Given the description of an element on the screen output the (x, y) to click on. 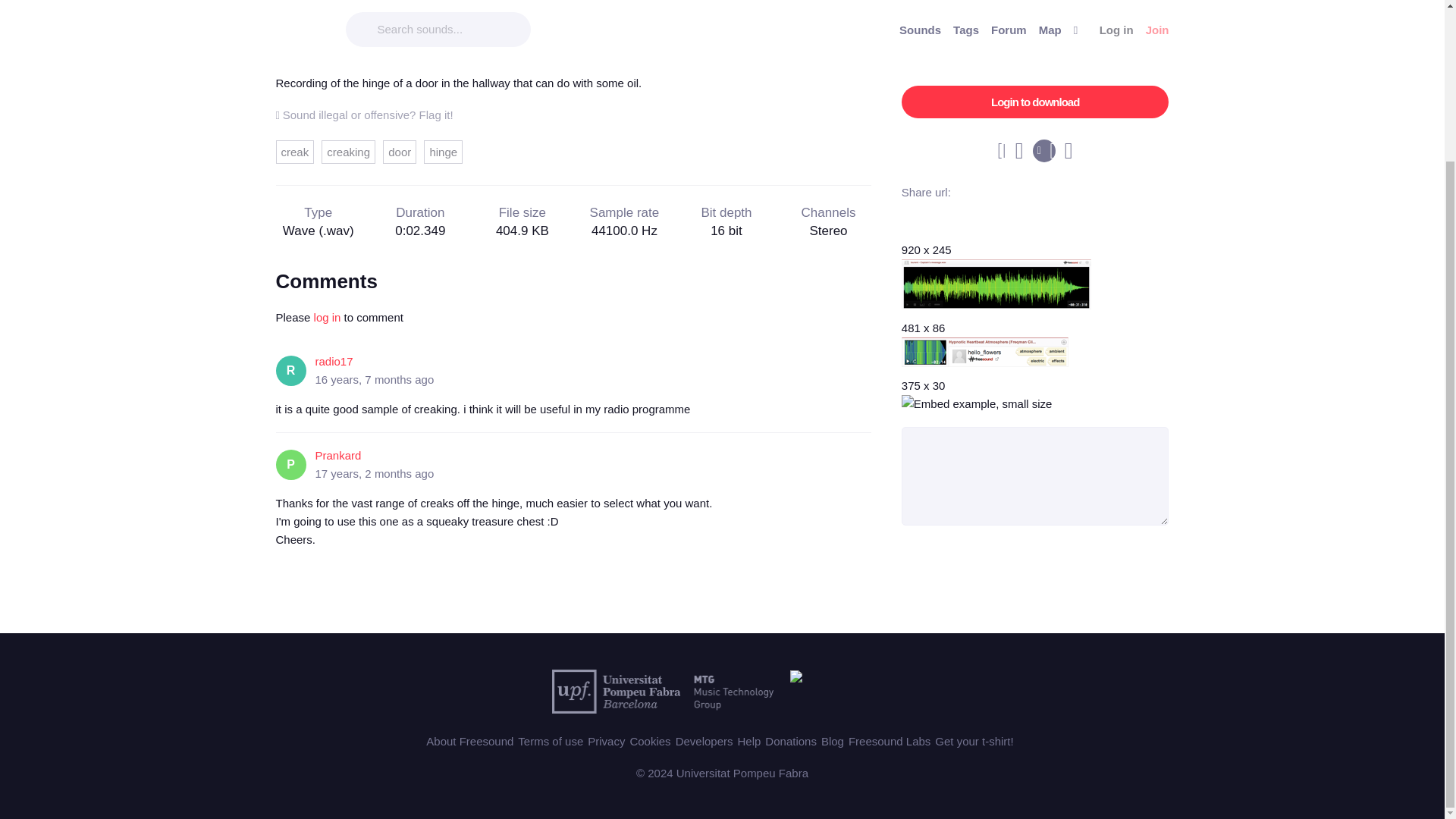
HerbertBoland (351, 4)
creak (295, 151)
door (399, 151)
radio17 (334, 360)
log in (327, 317)
Sound illegal or offensive? Flag it! (364, 114)
Follow (464, 14)
Prankard (338, 454)
creaking (348, 151)
hinge (443, 151)
Creaking door (463, 52)
Flag this sound as illegal, offensive or other... (364, 114)
